Given the description of an element on the screen output the (x, y) to click on. 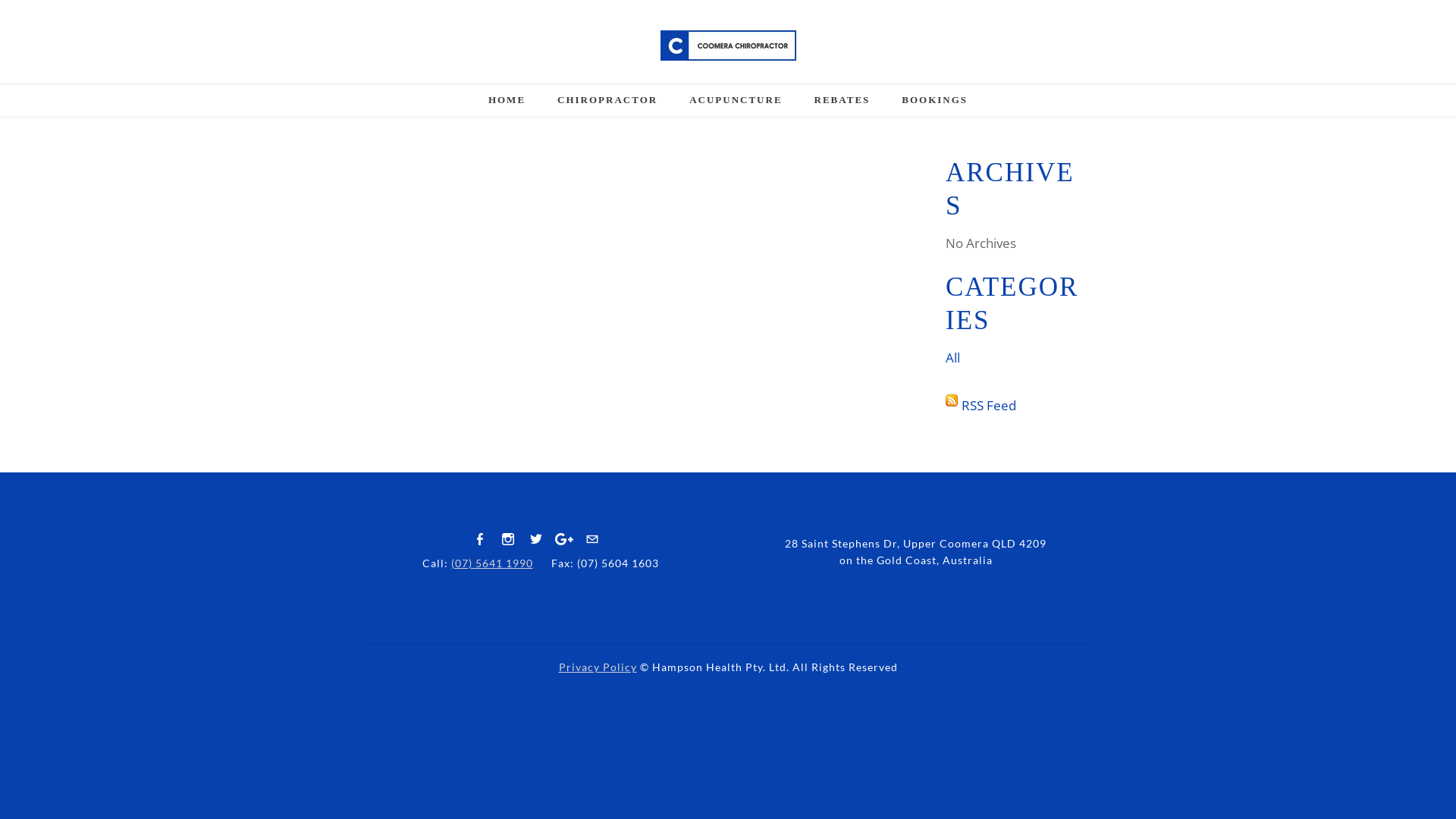
ACUPUNCTURE Element type: text (735, 105)
CHIROPRACTOR Element type: text (607, 105)
REBATES Element type: text (842, 105)
BOOKINGS Element type: text (934, 105)
HOME Element type: text (506, 105)
(07) 5641 1990 Element type: text (491, 562)
All Element type: text (952, 357)
Privacy Policy Element type: text (597, 666)
RSS Feed Element type: text (988, 405)
